Given the description of an element on the screen output the (x, y) to click on. 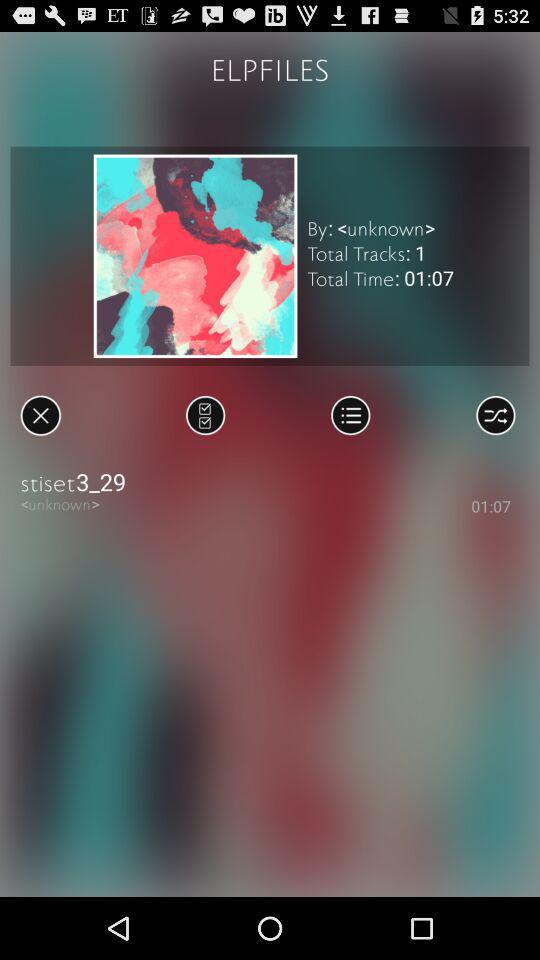
turn on the icon above the stiset3_29 (205, 415)
